Given the description of an element on the screen output the (x, y) to click on. 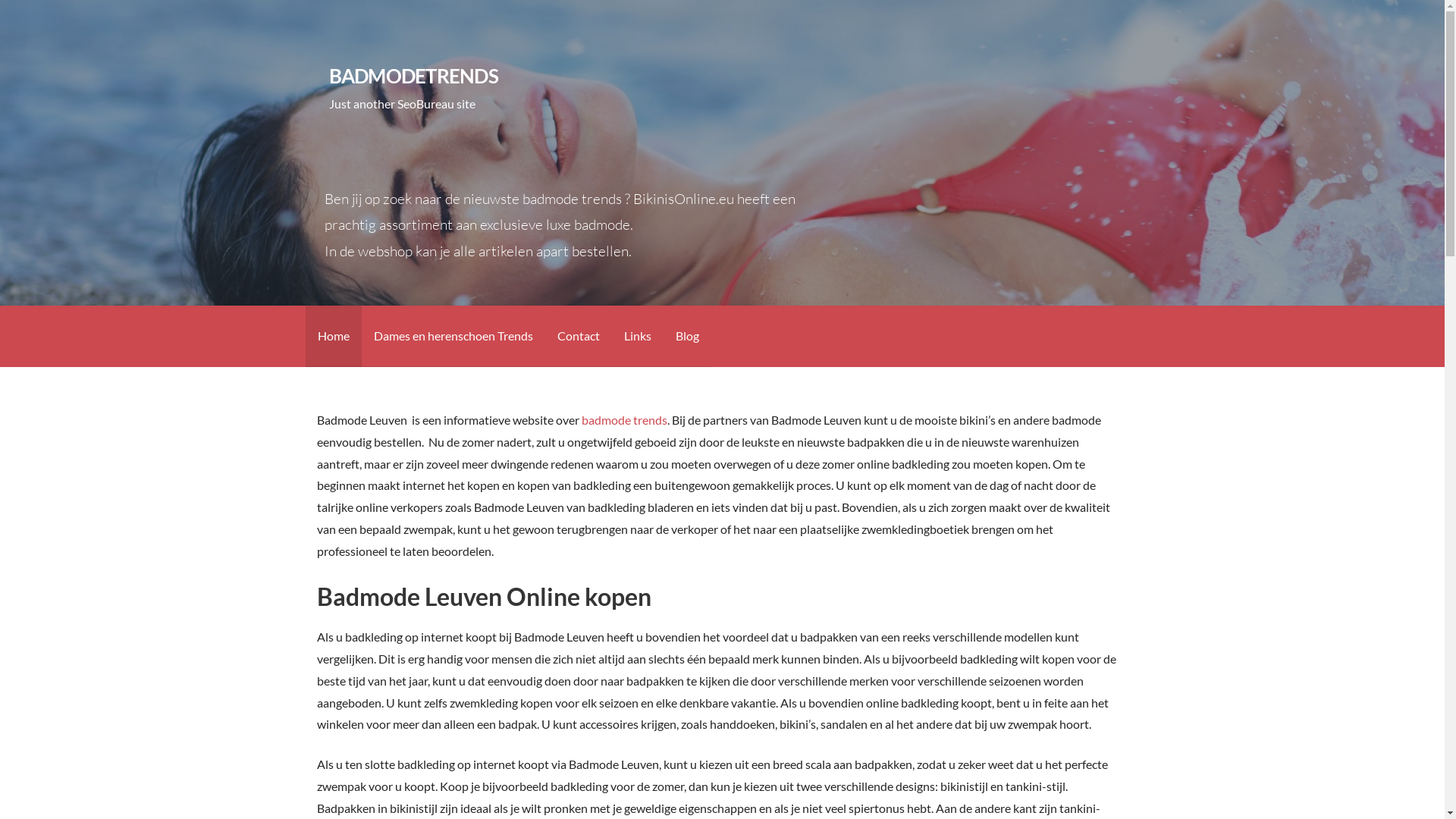
Contact Element type: text (577, 336)
BADMODETRENDS Element type: text (413, 75)
Links Element type: text (636, 336)
Blog Element type: text (686, 336)
badmode trends Element type: text (624, 419)
Home Element type: text (332, 336)
Dames en herenschoen Trends Element type: text (452, 336)
